Given the description of an element on the screen output the (x, y) to click on. 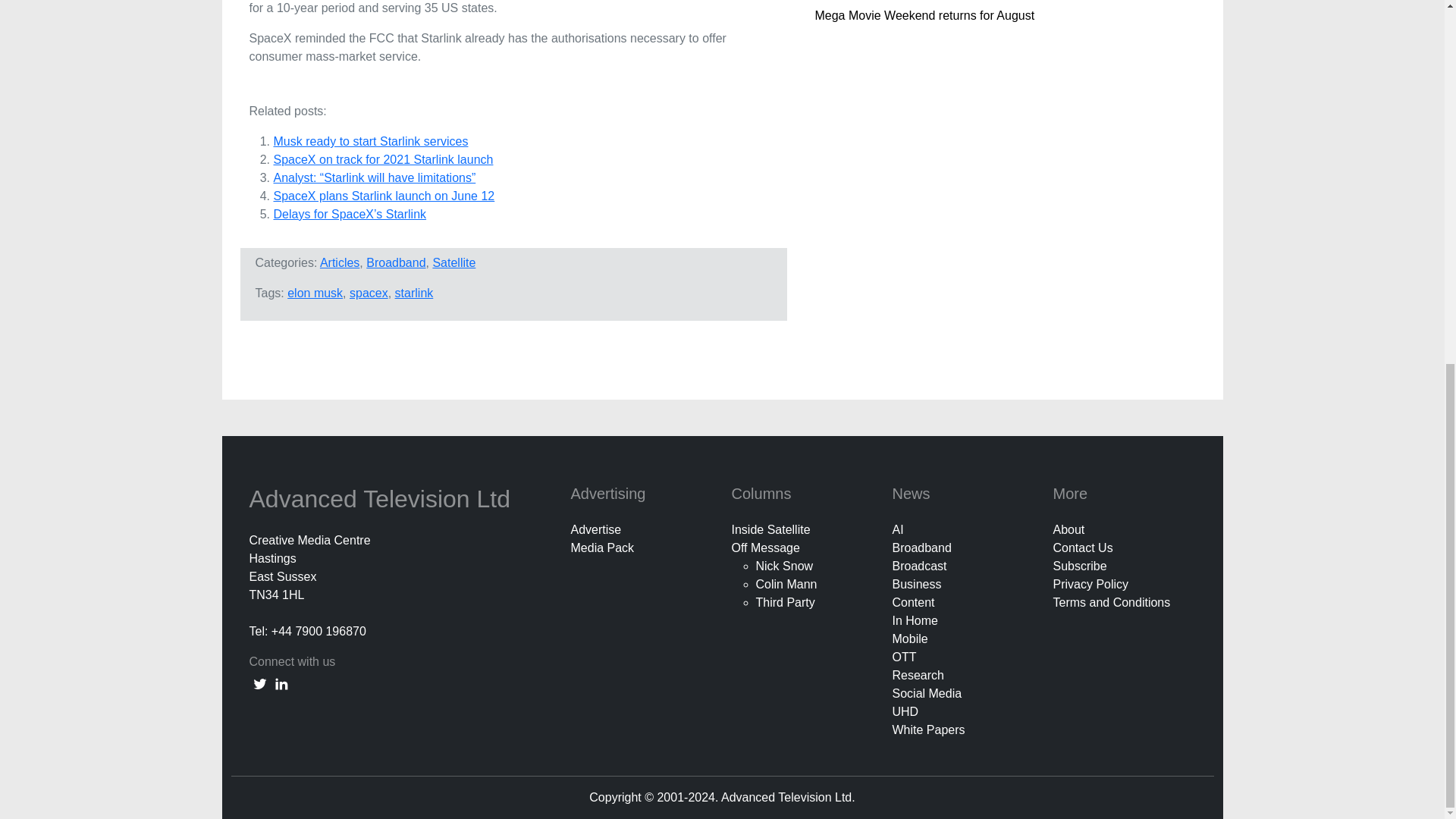
Musk ready to start Starlink services (370, 141)
SpaceX on track for 2021 Starlink launch (383, 159)
SpaceX plans Starlink launch on June 12 (384, 195)
Broadband (395, 262)
SpaceX on track for 2021 Starlink launch (383, 159)
Musk ready to start Starlink services (370, 141)
Mega Movie Weekend returns for August (923, 15)
Advanced Television Ltd  (382, 498)
elon musk (314, 292)
spacex (368, 292)
